Given the description of an element on the screen output the (x, y) to click on. 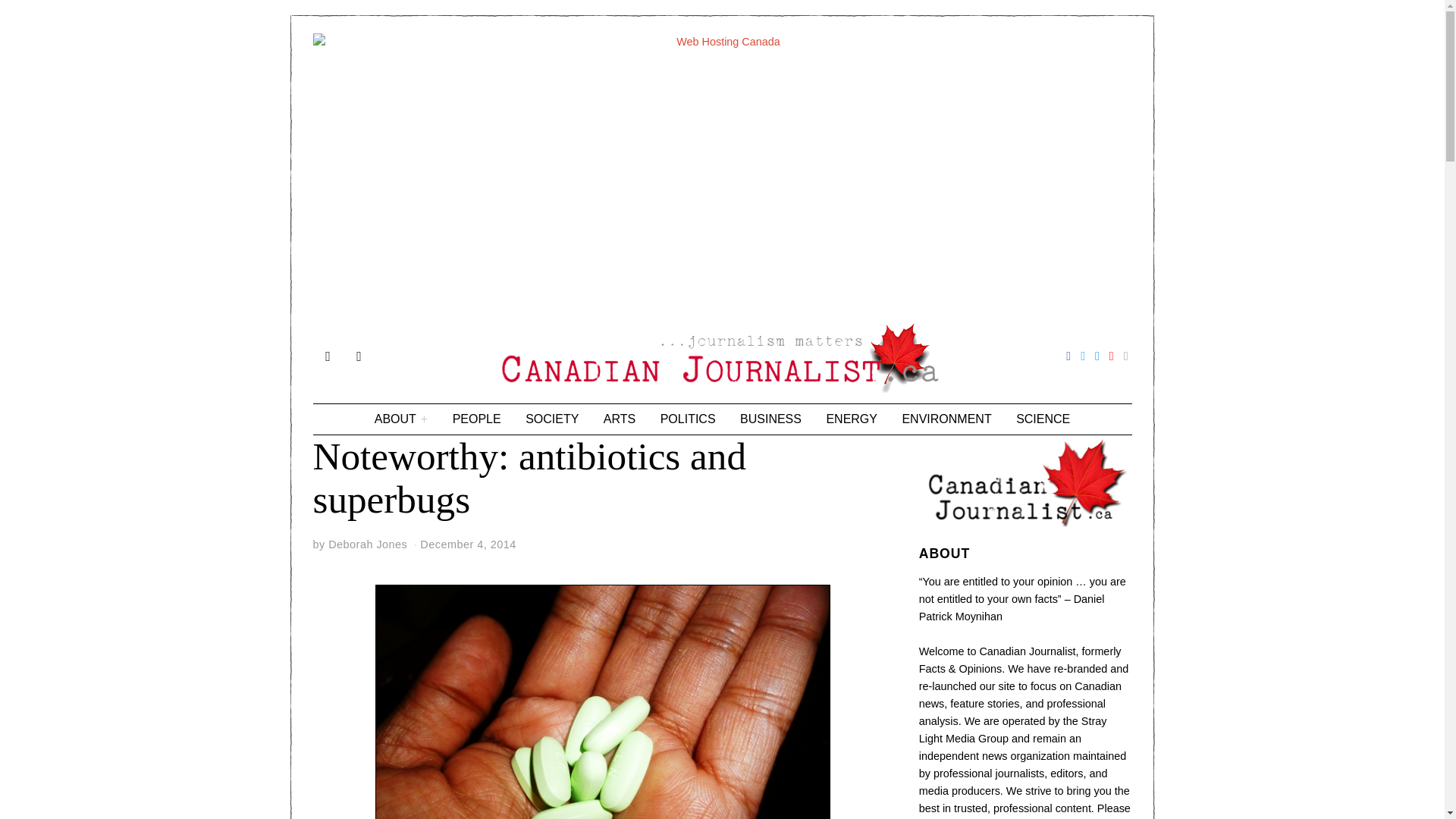
SCIENCE (1043, 419)
ENVIRONMENT (946, 419)
ARTS (619, 419)
POLITICS (687, 419)
ABOUT (401, 419)
SOCIETY (552, 419)
Deborah Jones (368, 544)
PEOPLE (477, 419)
BUSINESS (770, 419)
ENERGY (851, 419)
